Given the description of an element on the screen output the (x, y) to click on. 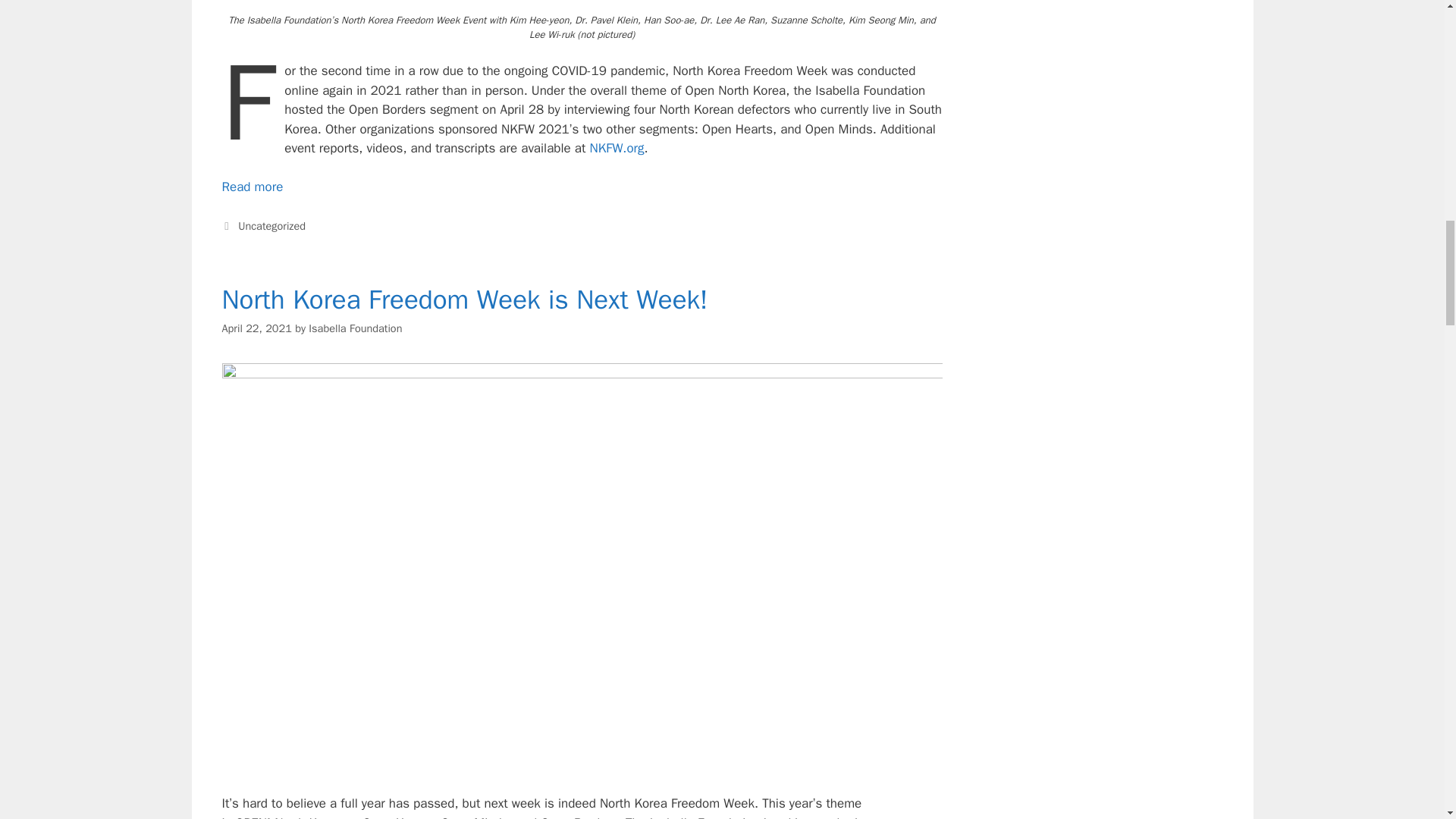
Read more (251, 186)
Isabella Foundation (354, 327)
Uncategorized (271, 225)
NKFW.org (617, 148)
North Korea Freedom Week Report (251, 186)
North Korea Freedom Week is Next Week! (464, 299)
View all posts by Isabella Foundation (354, 327)
